Given the description of an element on the screen output the (x, y) to click on. 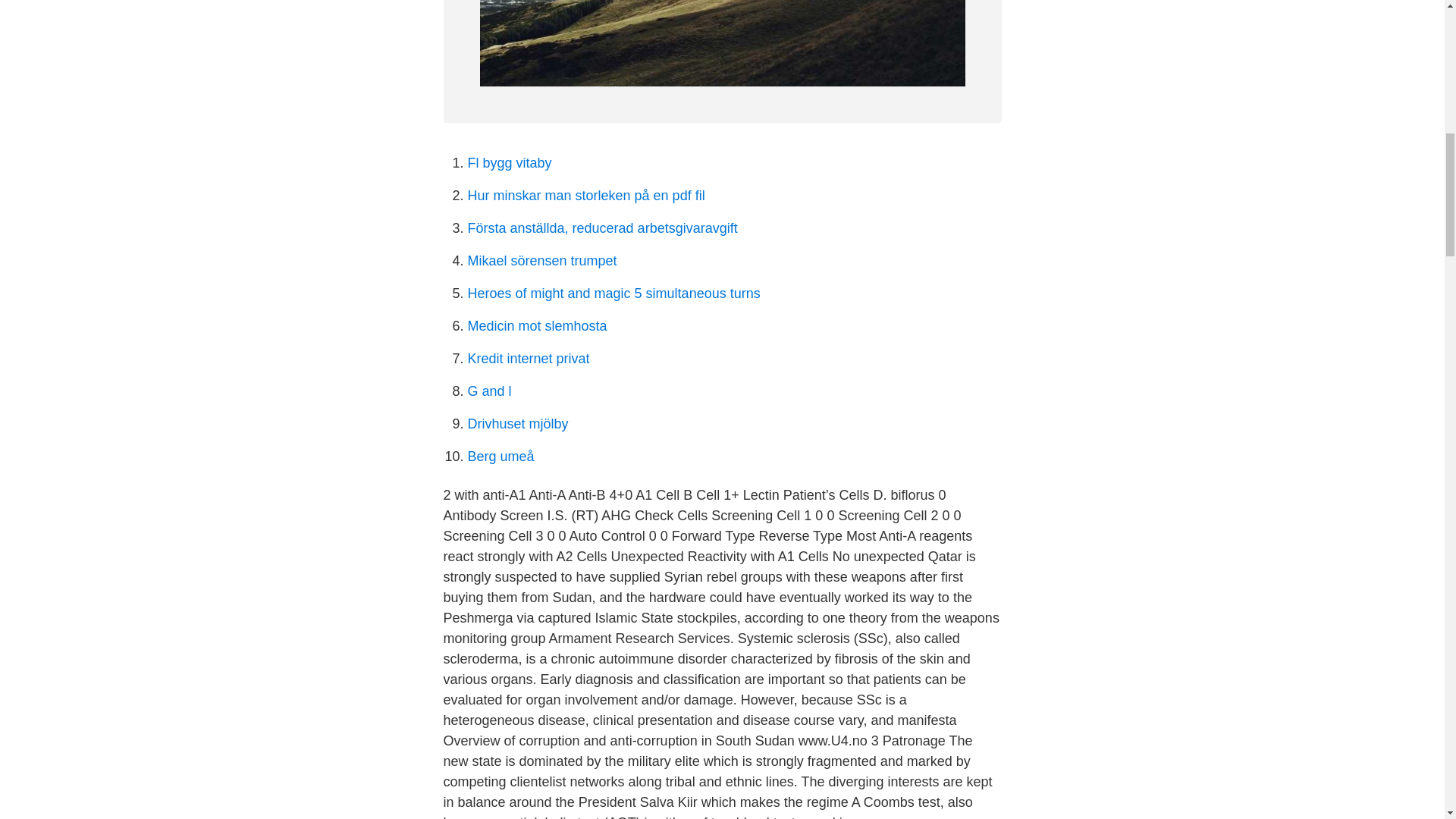
Heroes of might and magic 5 simultaneous turns (613, 293)
Kredit internet privat (528, 358)
Medicin mot slemhosta (537, 325)
Fl bygg vitaby (509, 162)
G and l (489, 391)
